Given the description of an element on the screen output the (x, y) to click on. 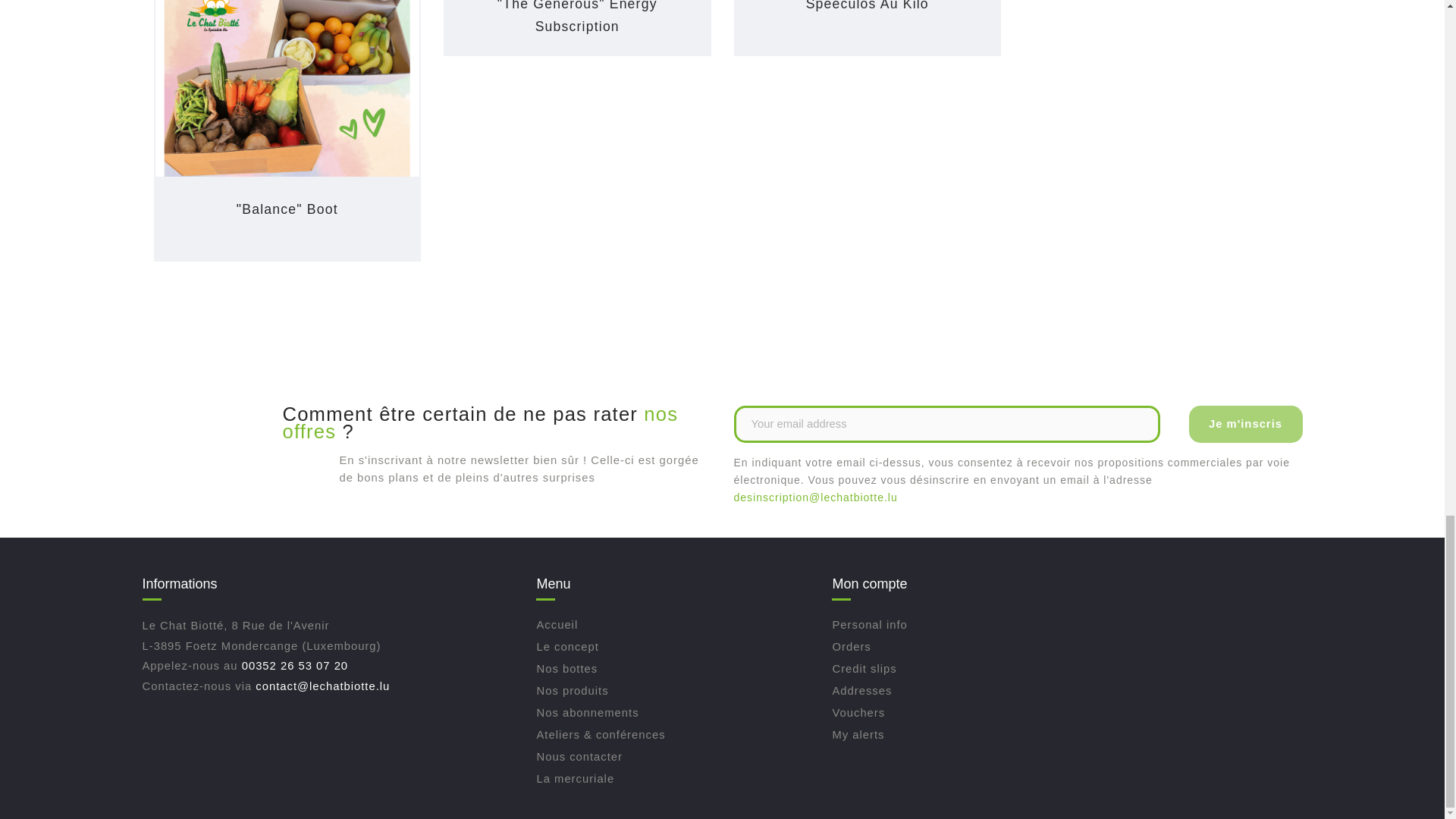
"Balance" Boot (286, 209)
Orders (850, 646)
Personal info (869, 624)
Credit slips (863, 668)
My alerts (857, 734)
Vouchers (858, 712)
"The Generous" Energy Subscription (577, 17)
Je m'inscris (1246, 424)
Addresses (861, 690)
